Given the description of an element on the screen output the (x, y) to click on. 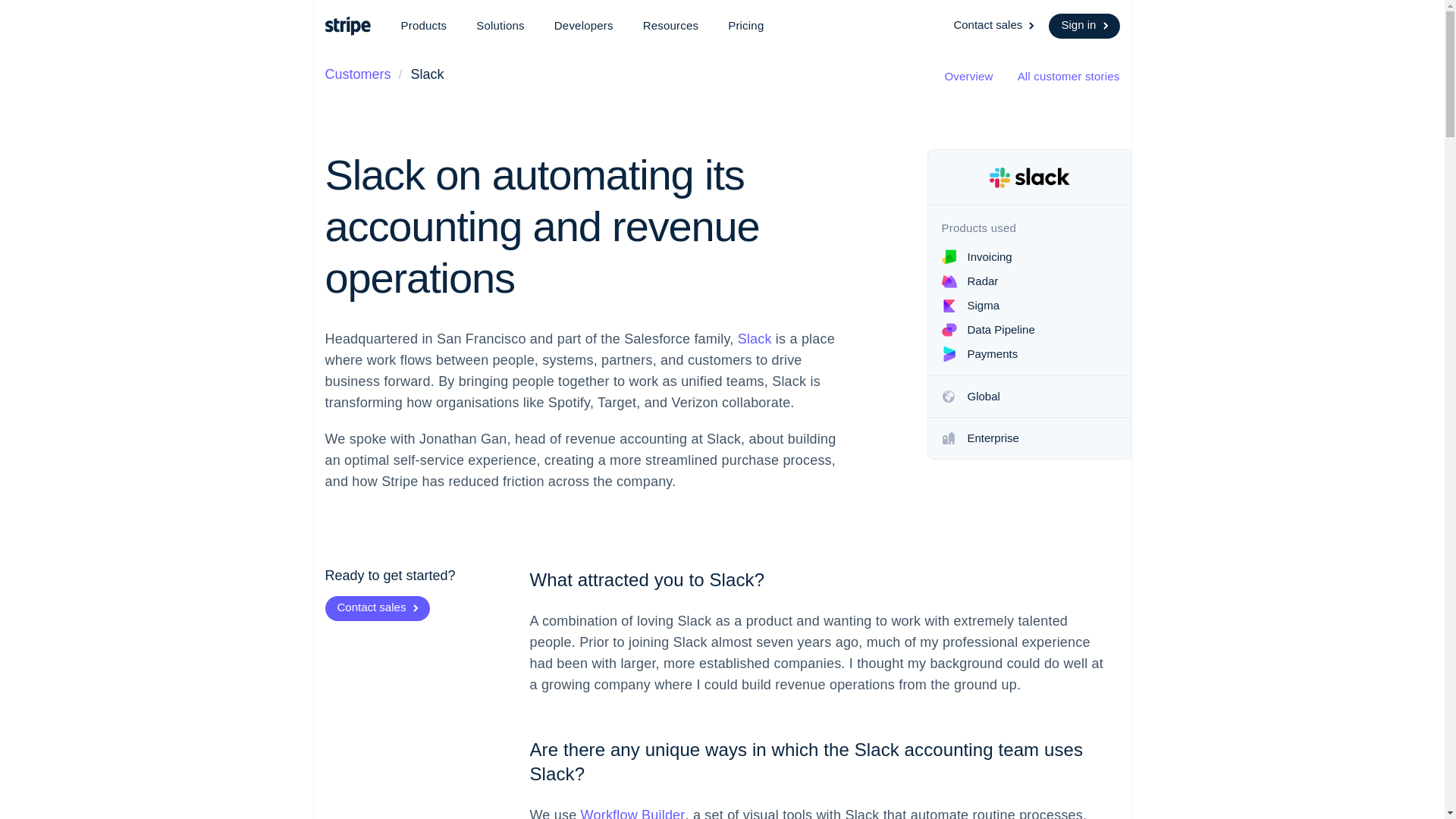
Resources (670, 25)
Developers (583, 25)
Pricing (745, 25)
Solutions (500, 25)
Sign in  (1083, 25)
Products (423, 25)
Contact sales  (994, 25)
